Given the description of an element on the screen output the (x, y) to click on. 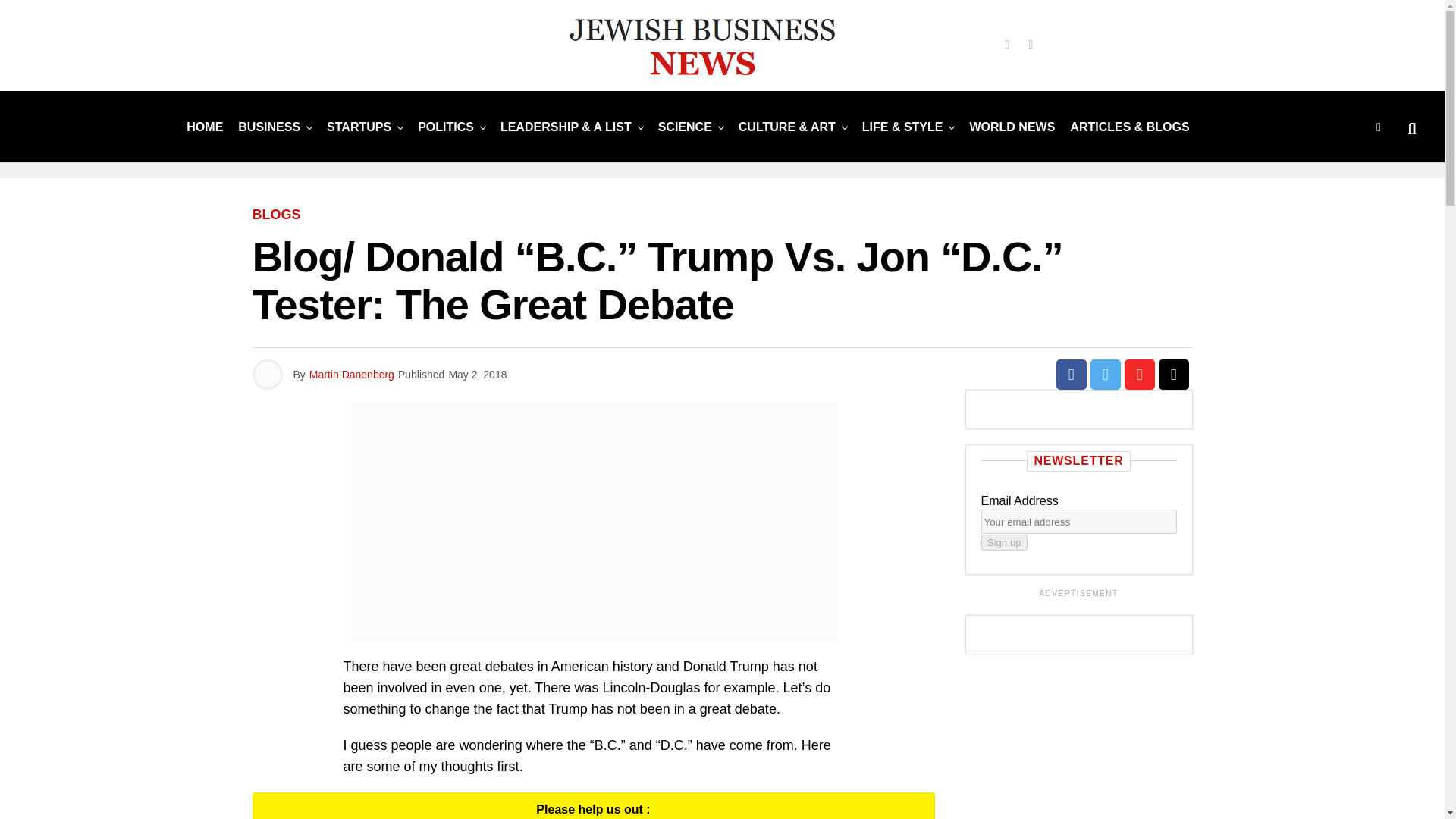
Share on Facebook (1070, 374)
Tweet This Post (1105, 374)
Posts by Martin Danenberg (351, 374)
Share on Flipboard (1139, 374)
New Research (684, 126)
Sign up (1004, 542)
